Given the description of an element on the screen output the (x, y) to click on. 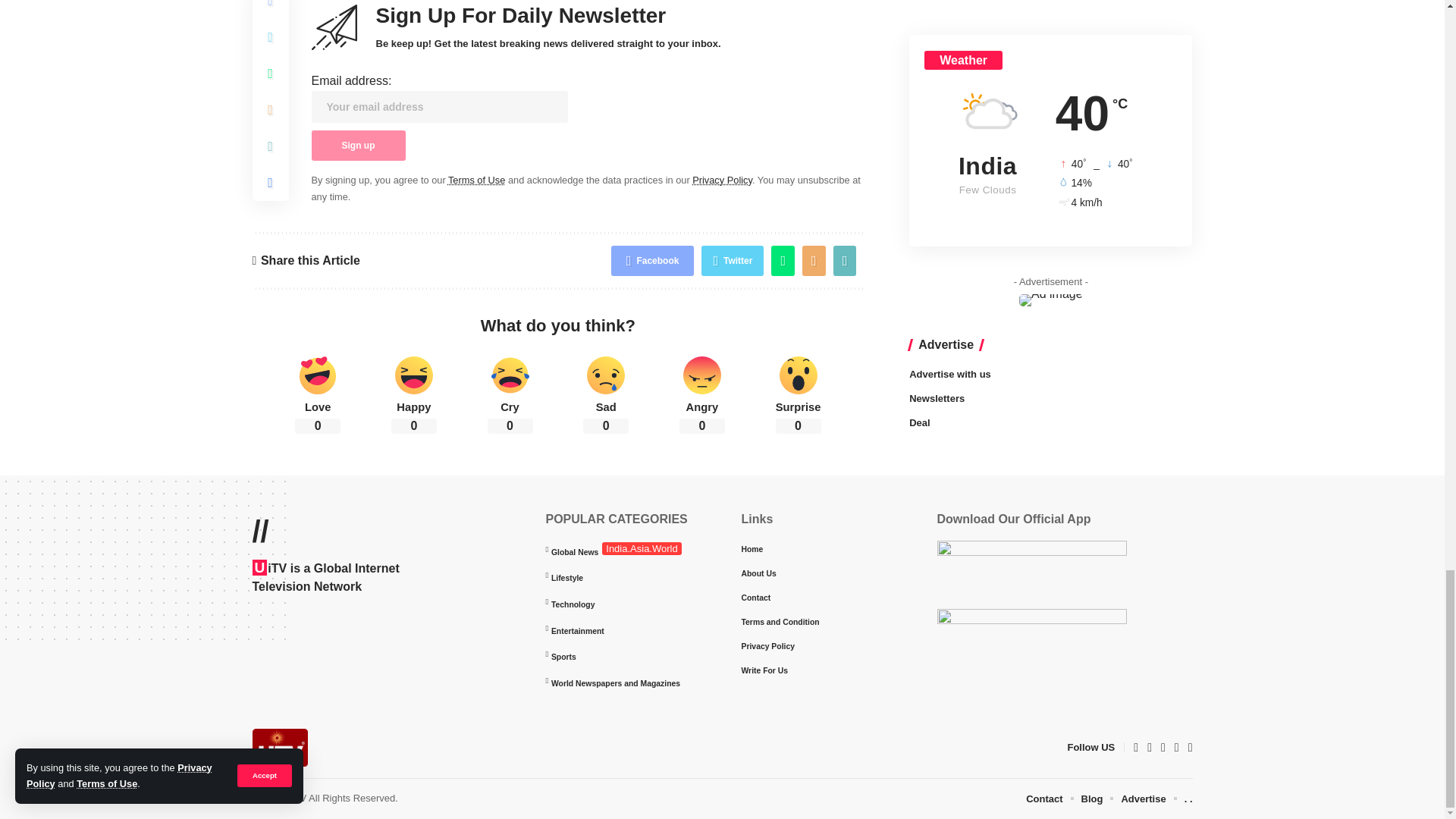
Sign up (357, 145)
